Given the description of an element on the screen output the (x, y) to click on. 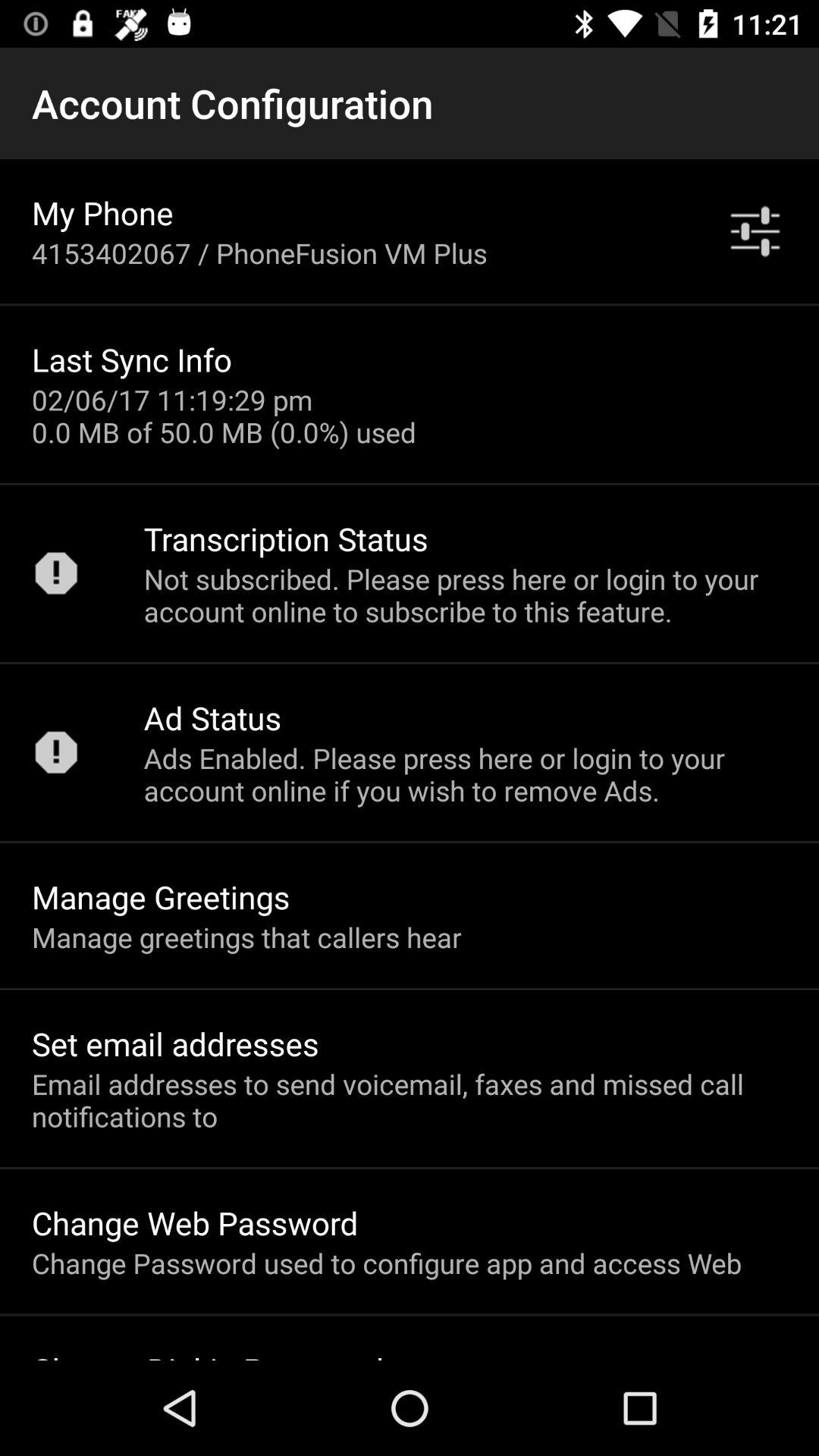
tap the item above not subscribed please app (755, 231)
